Given the description of an element on the screen output the (x, y) to click on. 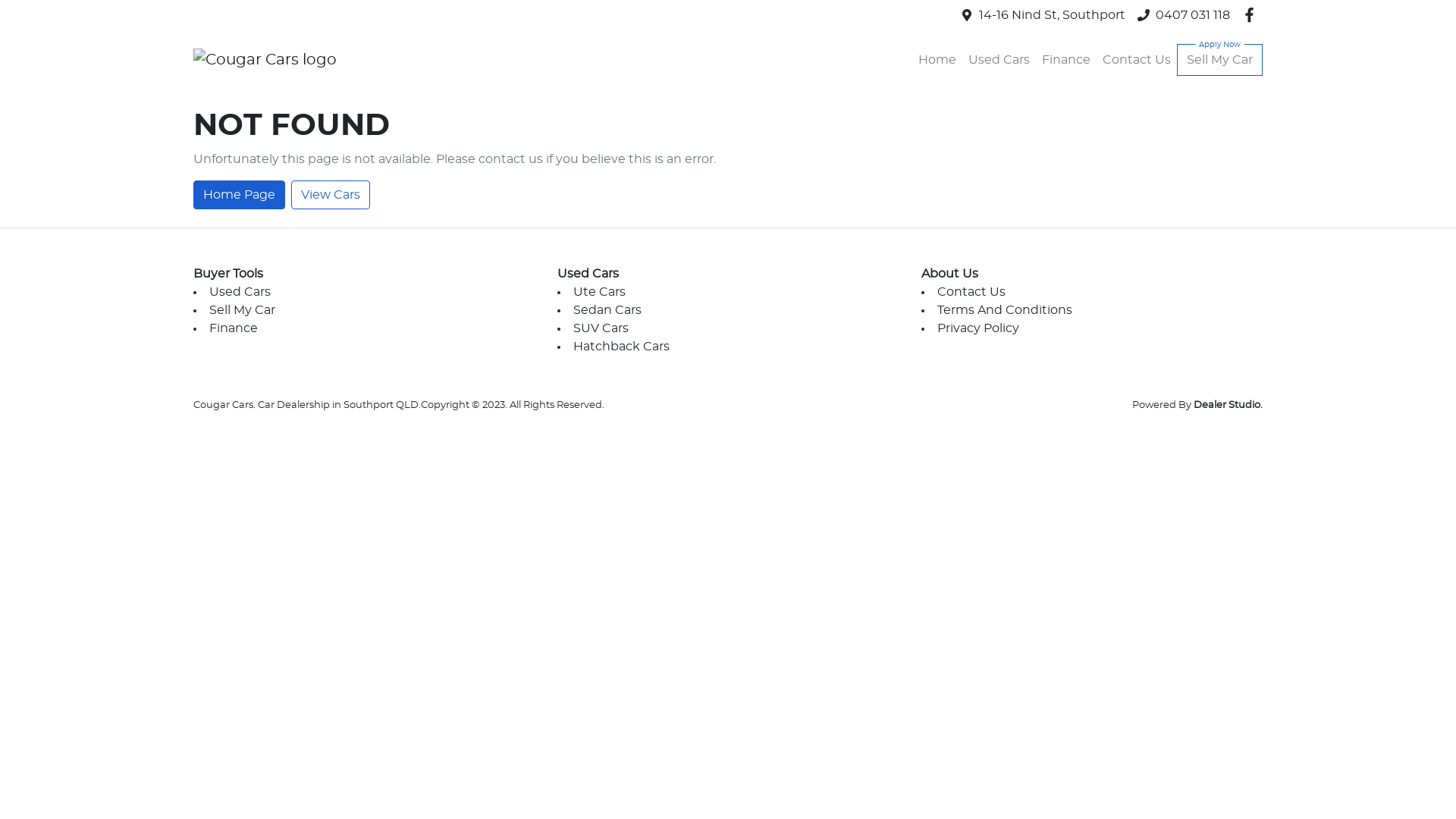
View Cars Element type: text (330, 194)
0407 031 118 Element type: text (1192, 15)
Sedan Cars Element type: text (607, 310)
Home Element type: text (937, 59)
Used Cars Element type: text (998, 59)
Sell My Car Element type: text (242, 310)
Privacy Policy Element type: text (978, 328)
Finance Element type: text (1065, 59)
Terms And Conditions Element type: text (1004, 310)
Used Cars Element type: text (239, 291)
14-16 Nind St, Southport Element type: text (1052, 15)
Hatchback Cars Element type: text (621, 346)
Finance Element type: text (233, 328)
Sell My Car Element type: text (1219, 59)
Home Page Element type: text (239, 194)
Contact Us Element type: text (1136, 59)
Dealer Studio. Element type: text (1227, 405)
SUV Cars Element type: text (600, 328)
Contact Us Element type: text (971, 291)
Ute Cars Element type: text (599, 291)
